Given the description of an element on the screen output the (x, y) to click on. 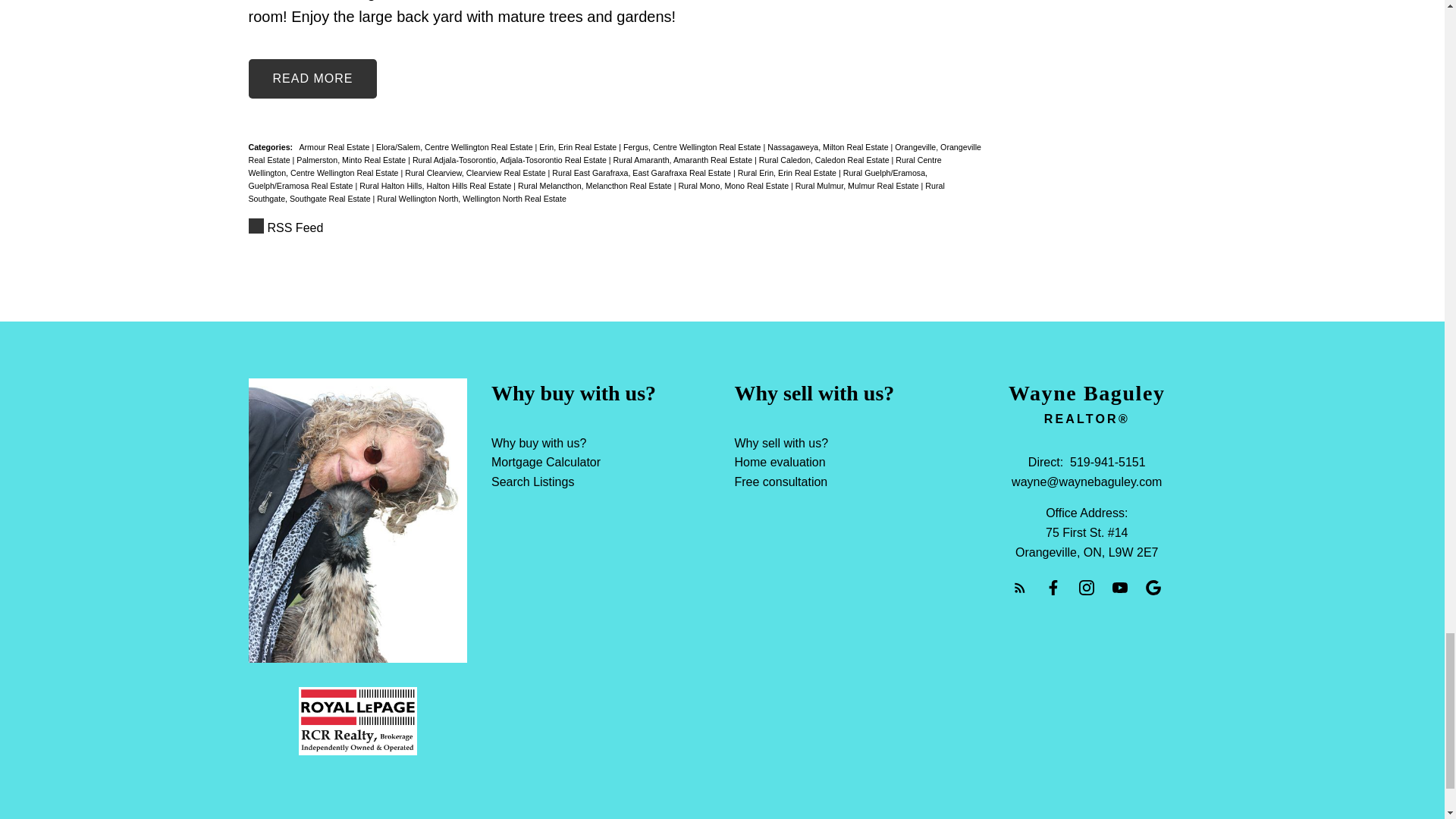
RSS (616, 228)
